Given the description of an element on the screen output the (x, y) to click on. 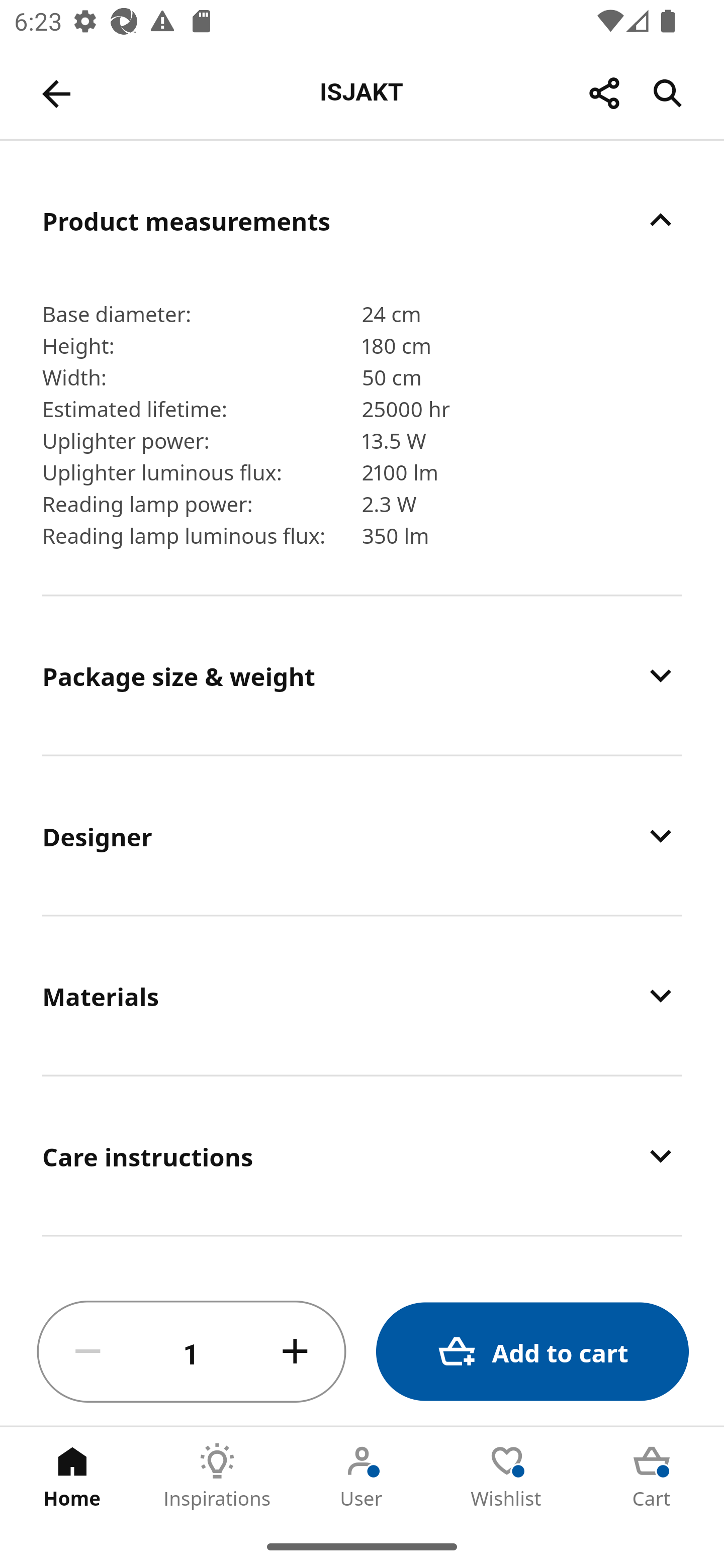
Product measurements (361, 219)
Package size & weight (361, 674)
Designer (361, 835)
Materials (361, 995)
Care instructions (361, 1156)
Add to cart (531, 1352)
1 (191, 1352)
Home
Tab 1 of 5 (72, 1476)
Inspirations
Tab 2 of 5 (216, 1476)
User
Tab 3 of 5 (361, 1476)
Wishlist
Tab 4 of 5 (506, 1476)
Cart
Tab 5 of 5 (651, 1476)
